Given the description of an element on the screen output the (x, y) to click on. 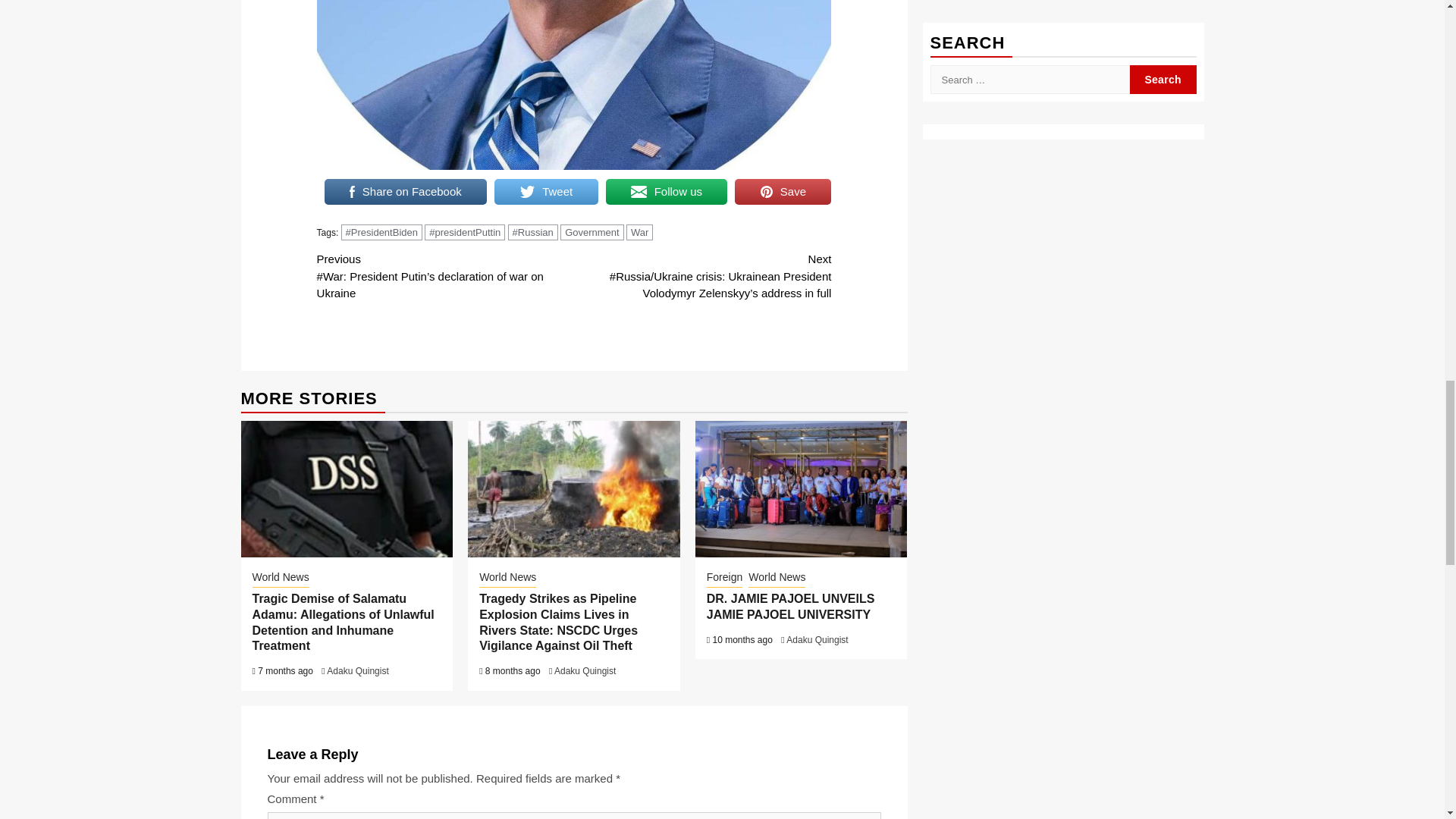
Share on Facebook (405, 191)
Save (783, 191)
Follow us (666, 191)
Tweet (545, 191)
